Given the description of an element on the screen output the (x, y) to click on. 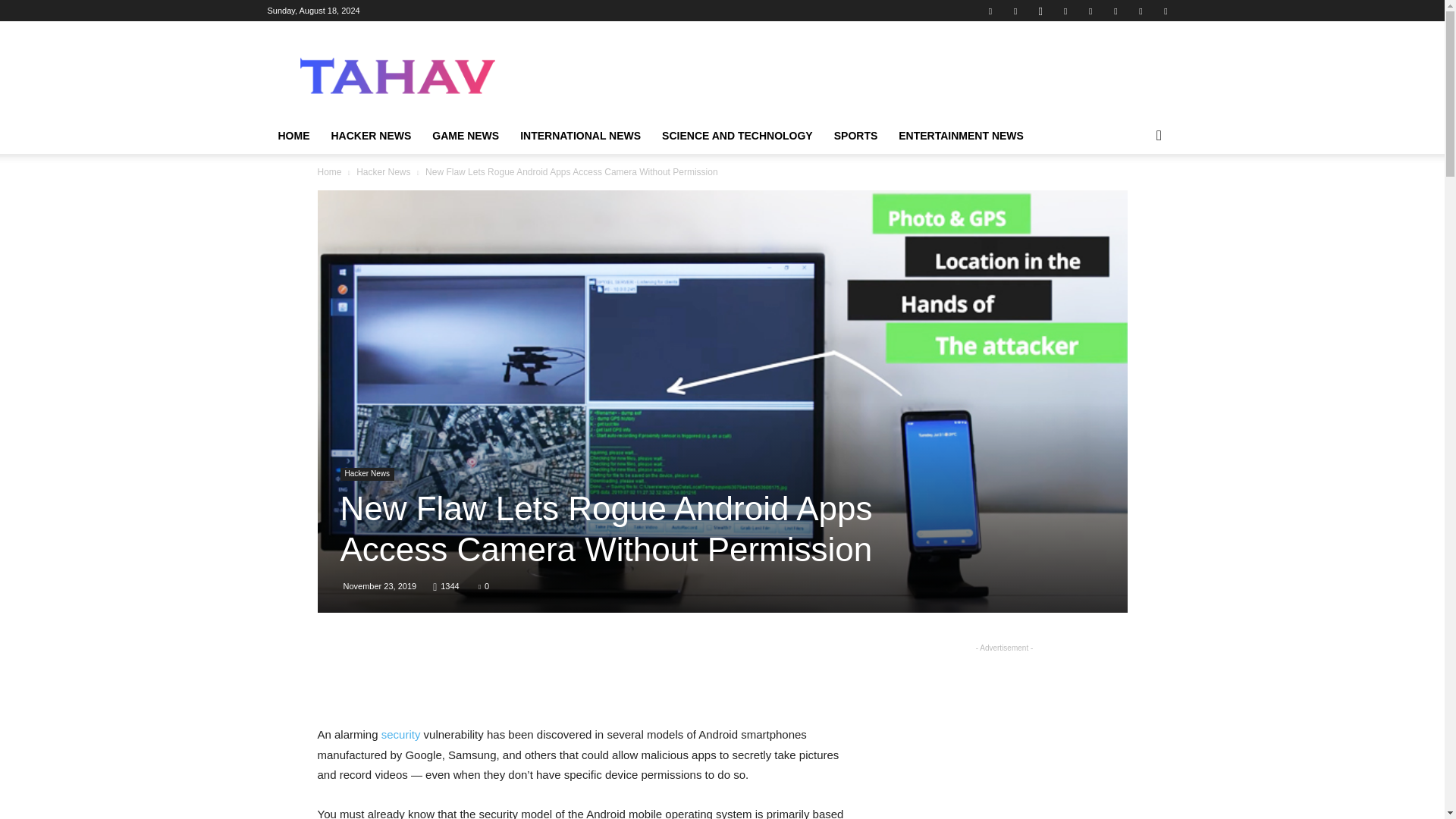
ENTERTAINMENT NEWS (960, 135)
Mix (1065, 10)
HACKER NEWS (371, 135)
Dailymotion (989, 10)
HOME (293, 135)
Instagram (1040, 10)
Facebook (1015, 10)
SCIENCE AND TECHNOLOGY (737, 135)
Home (328, 172)
Pinterest (1090, 10)
